Given the description of an element on the screen output the (x, y) to click on. 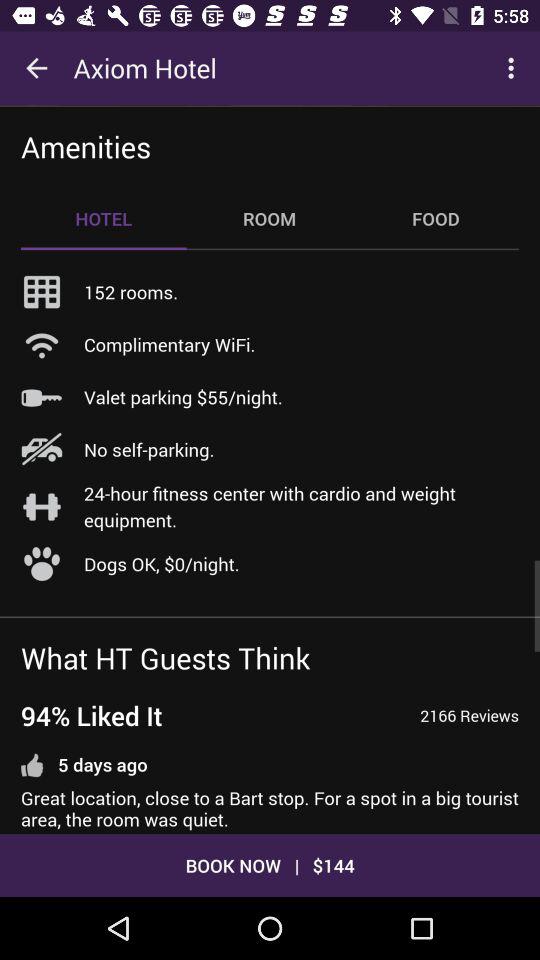
choose icon below 5 days ago item (270, 809)
